Given the description of an element on the screen output the (x, y) to click on. 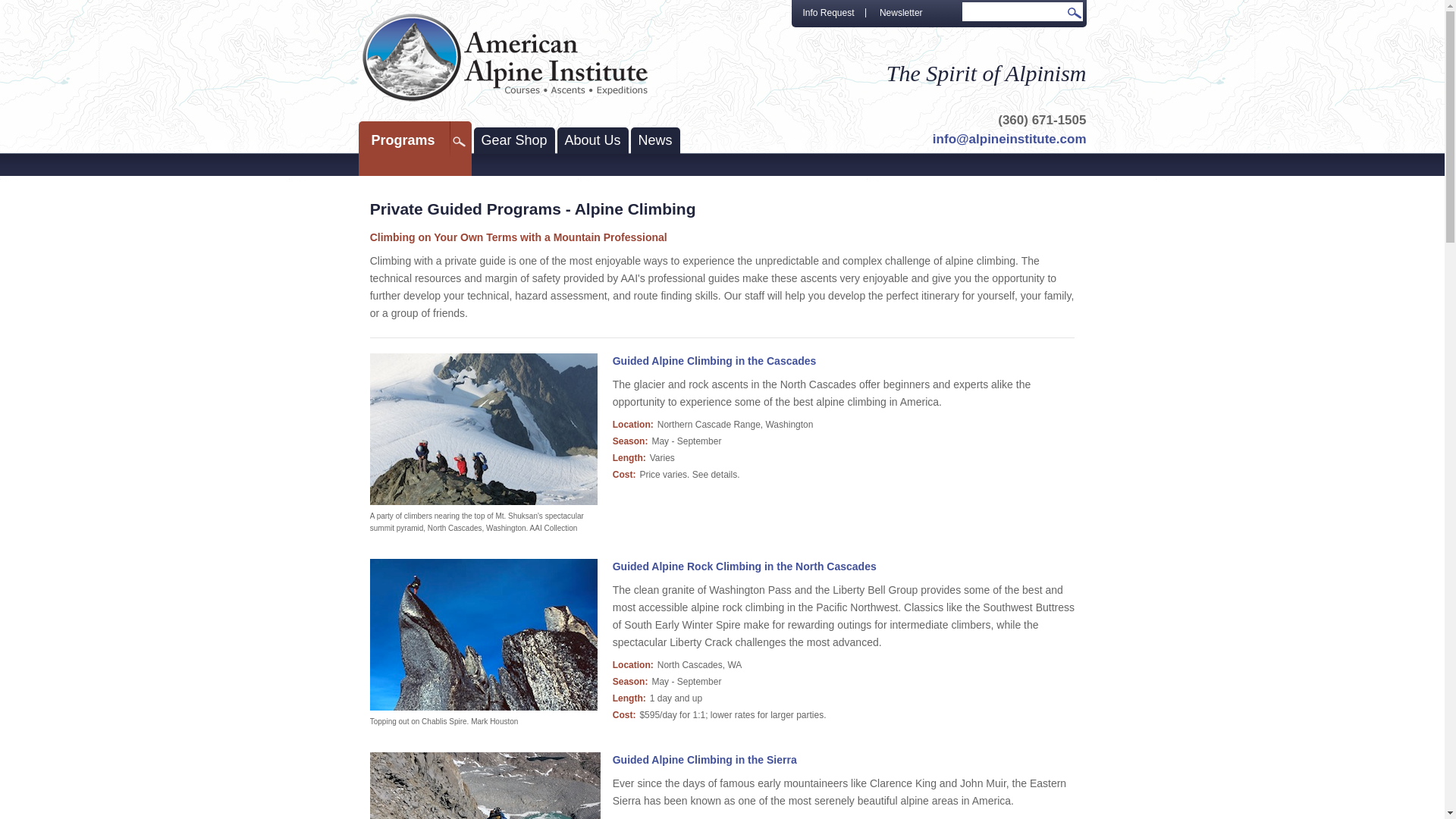
Gear Shop Element type: text (513, 140)
American Alpine Institute - Courses, Ascents, Expeditions Element type: text (504, 56)
News Element type: text (655, 140)
About Us Element type: text (592, 140)
Guided Alpine Climbing in the Cascades Element type: hover (483, 429)
Newsletter Element type: text (901, 14)
Info Request Element type: text (828, 14)
Guided Alpine Rock Climbing in the North Cascades Element type: text (744, 566)
info@alpineinstitute.com Element type: text (1009, 138)
Guided Alpine Climbing in the Sierra Element type: text (704, 759)
Guided Alpine Climbing in the Cascades Element type: text (714, 360)
Guided Alpine Rock Climbing in the North Cascades Element type: hover (483, 634)
Go Element type: text (1074, 14)
Programs Element type: text (413, 140)
